Given the description of an element on the screen output the (x, y) to click on. 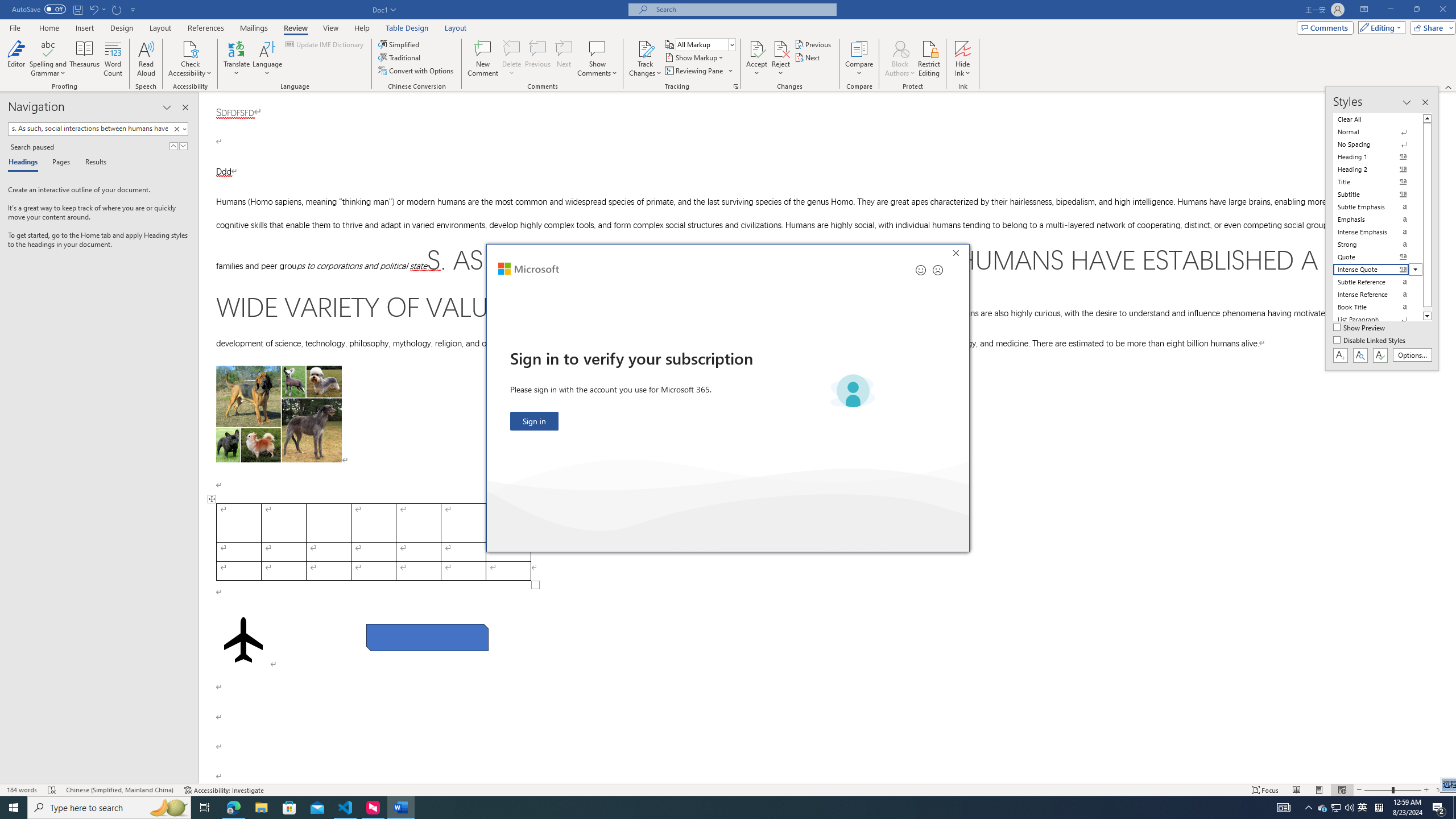
Word Count (113, 58)
Update IME Dictionary... (324, 44)
Next Result (183, 145)
Clear (178, 128)
Track Changes (1362, 807)
